Given the description of an element on the screen output the (x, y) to click on. 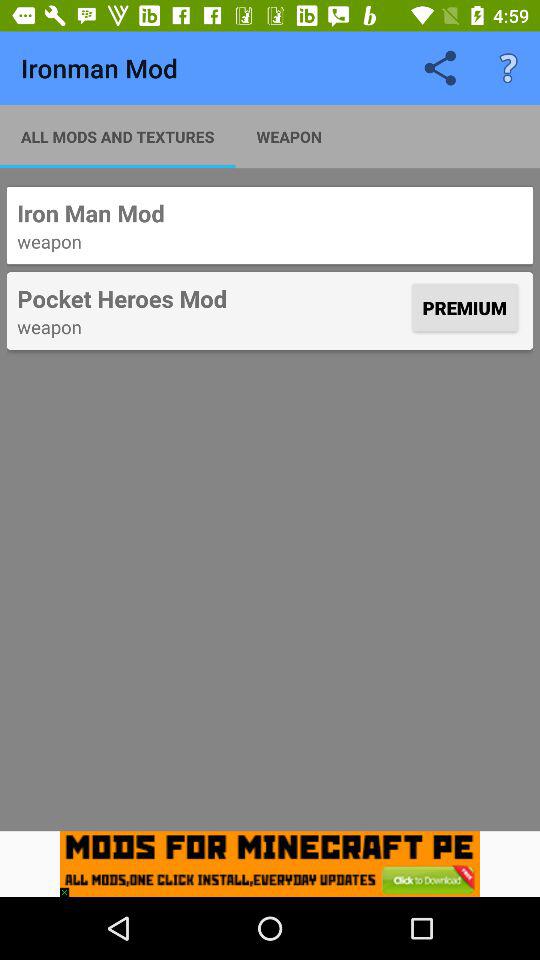
launch the item to the left of the weapon item (117, 136)
